Given the description of an element on the screen output the (x, y) to click on. 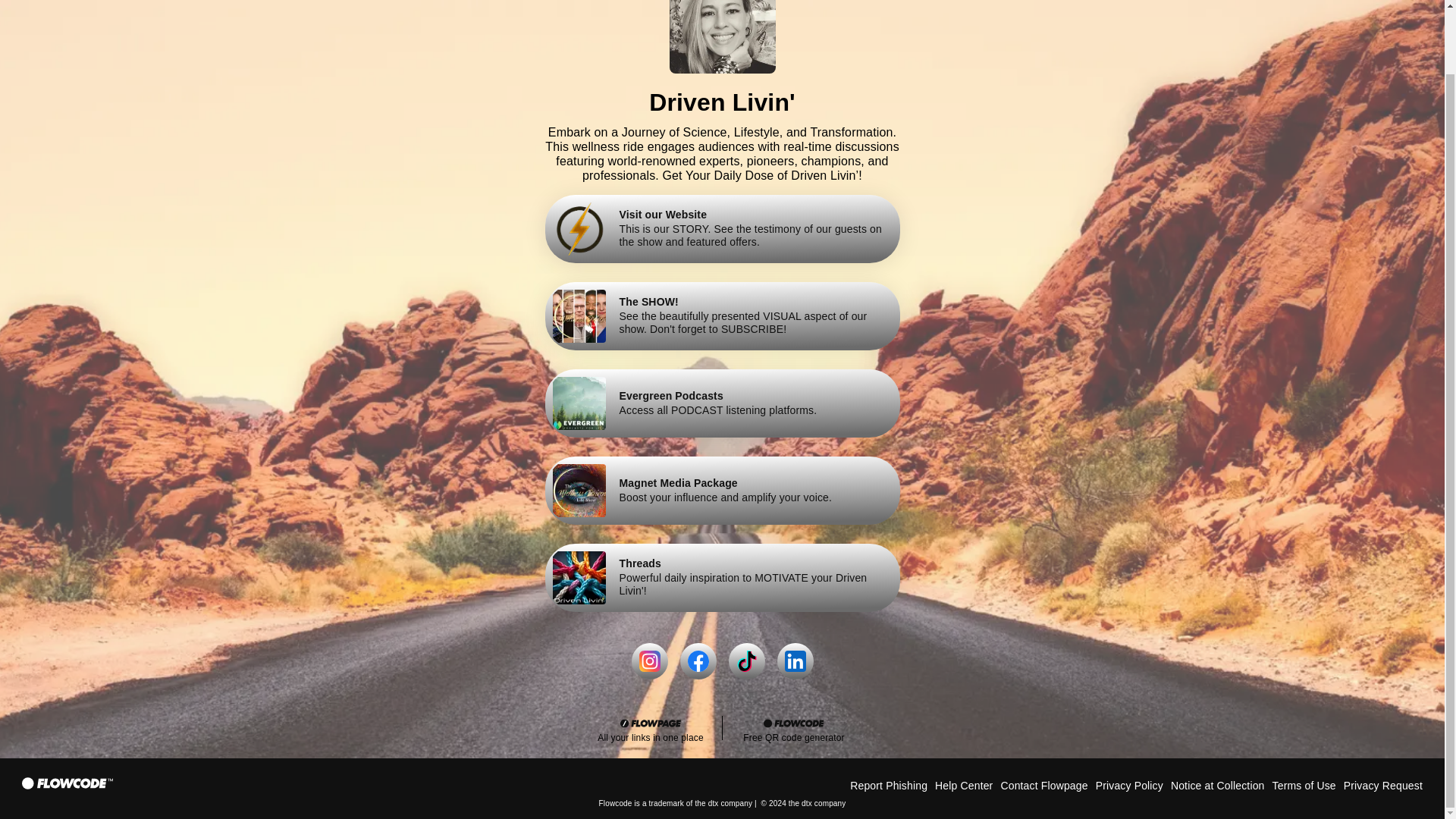
Notice at Collection (1217, 784)
Report Phishing (888, 784)
All your links in one place (649, 730)
Contact Flowpage (1043, 784)
Free QR code generator (721, 403)
Terms of Use (793, 729)
